Given the description of an element on the screen output the (x, y) to click on. 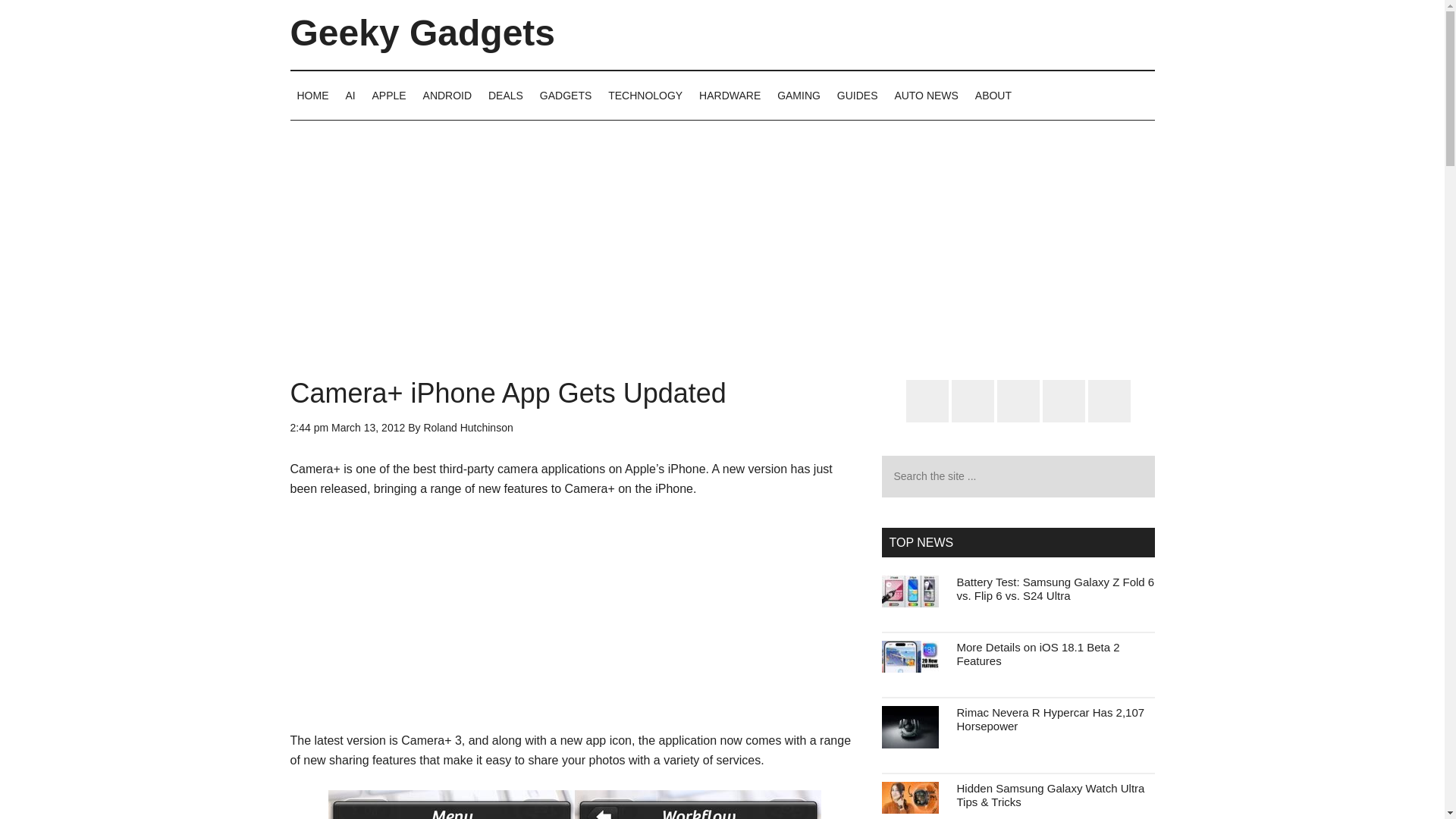
HOME (311, 95)
HARDWARE (730, 95)
About Geeky Gadgets (992, 95)
GADGETS (565, 95)
Geeky Gadgets (421, 33)
More Details on iOS 18.1 Beta 2 Features (1037, 653)
